Given the description of an element on the screen output the (x, y) to click on. 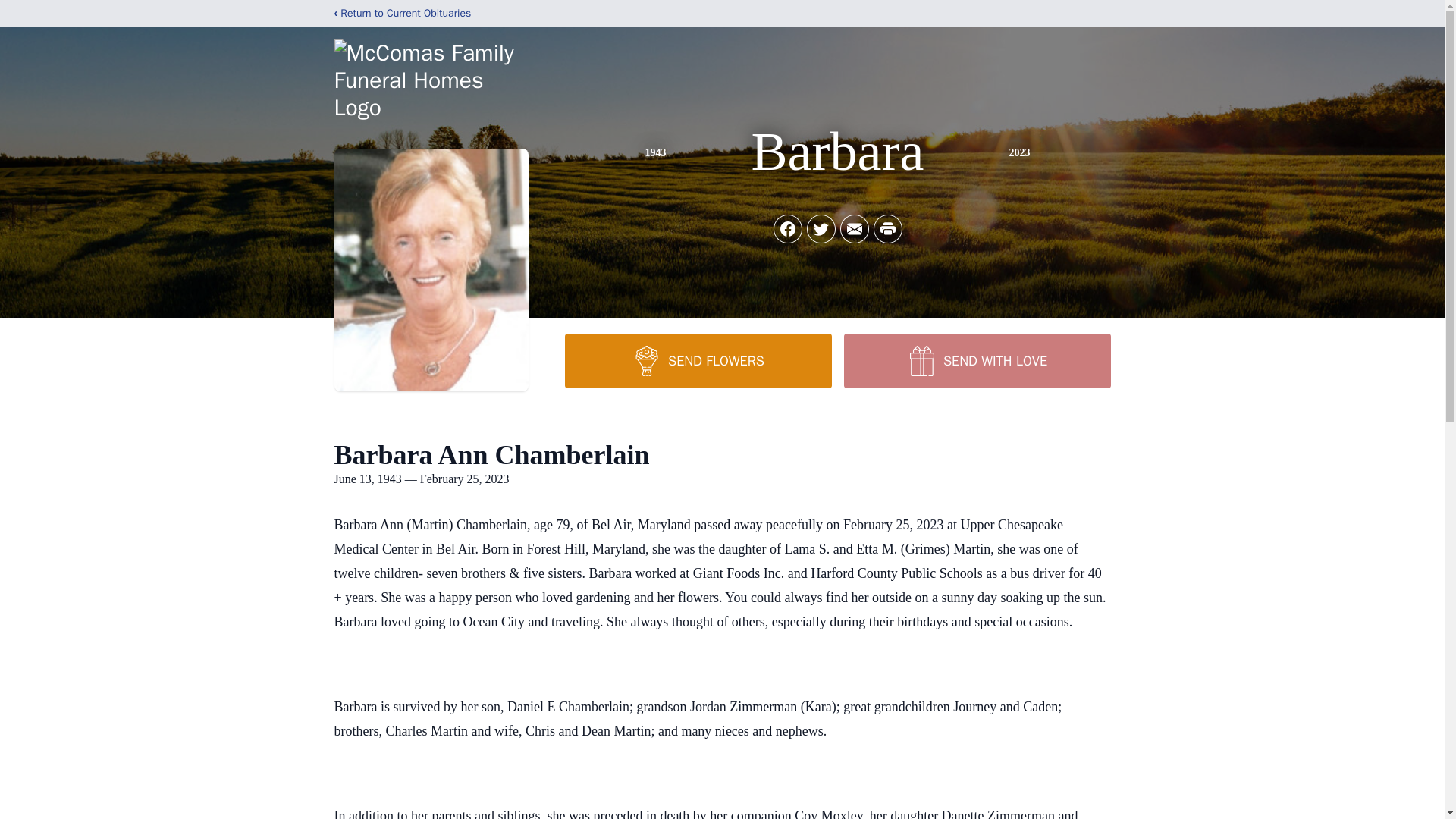
SEND FLOWERS (697, 360)
SEND WITH LOVE (976, 360)
